Given the description of an element on the screen output the (x, y) to click on. 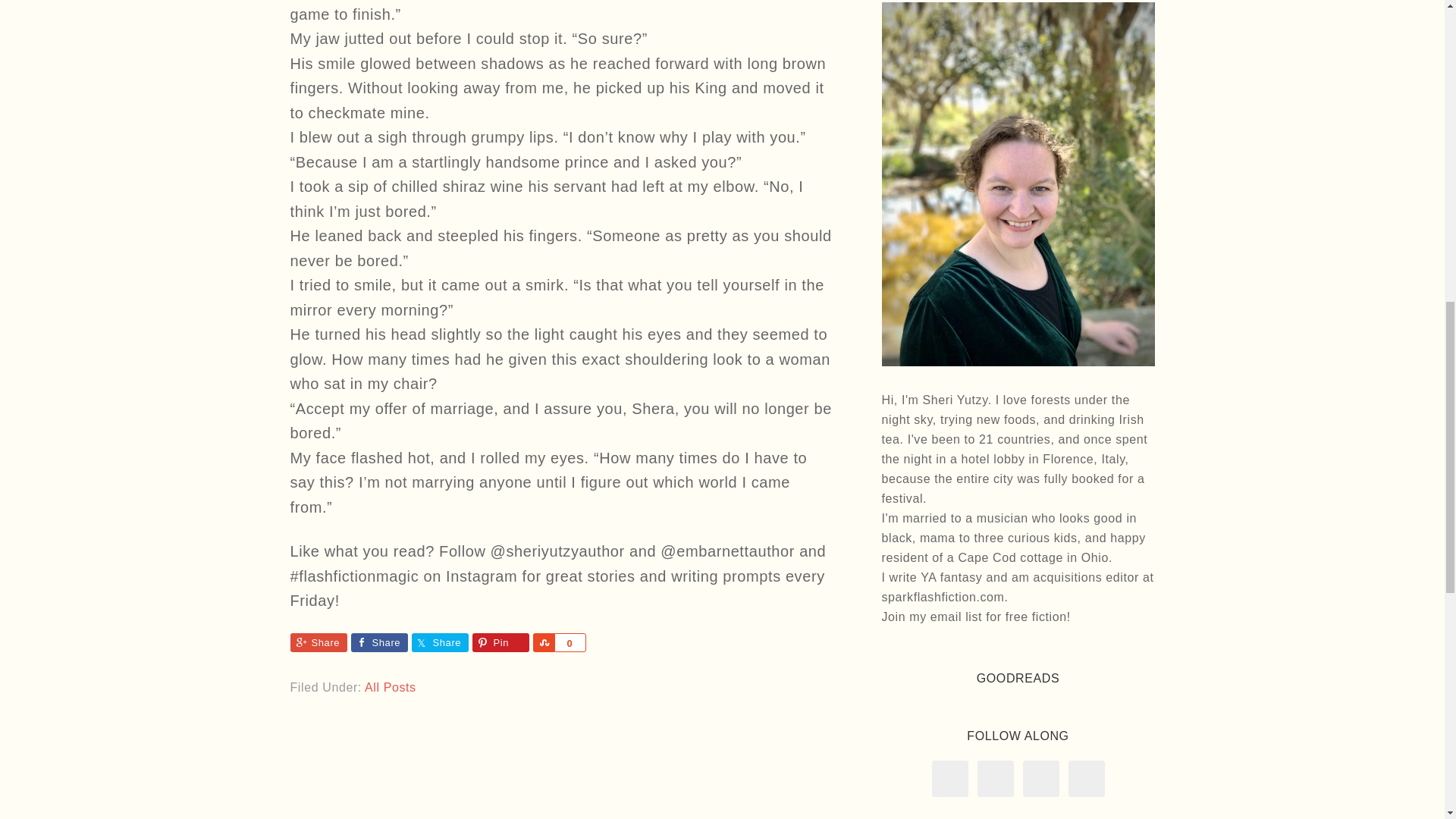
Pin (499, 641)
Share (378, 641)
All Posts (390, 686)
Share (438, 641)
0 (569, 641)
Share (542, 641)
Share (317, 641)
